Given the description of an element on the screen output the (x, y) to click on. 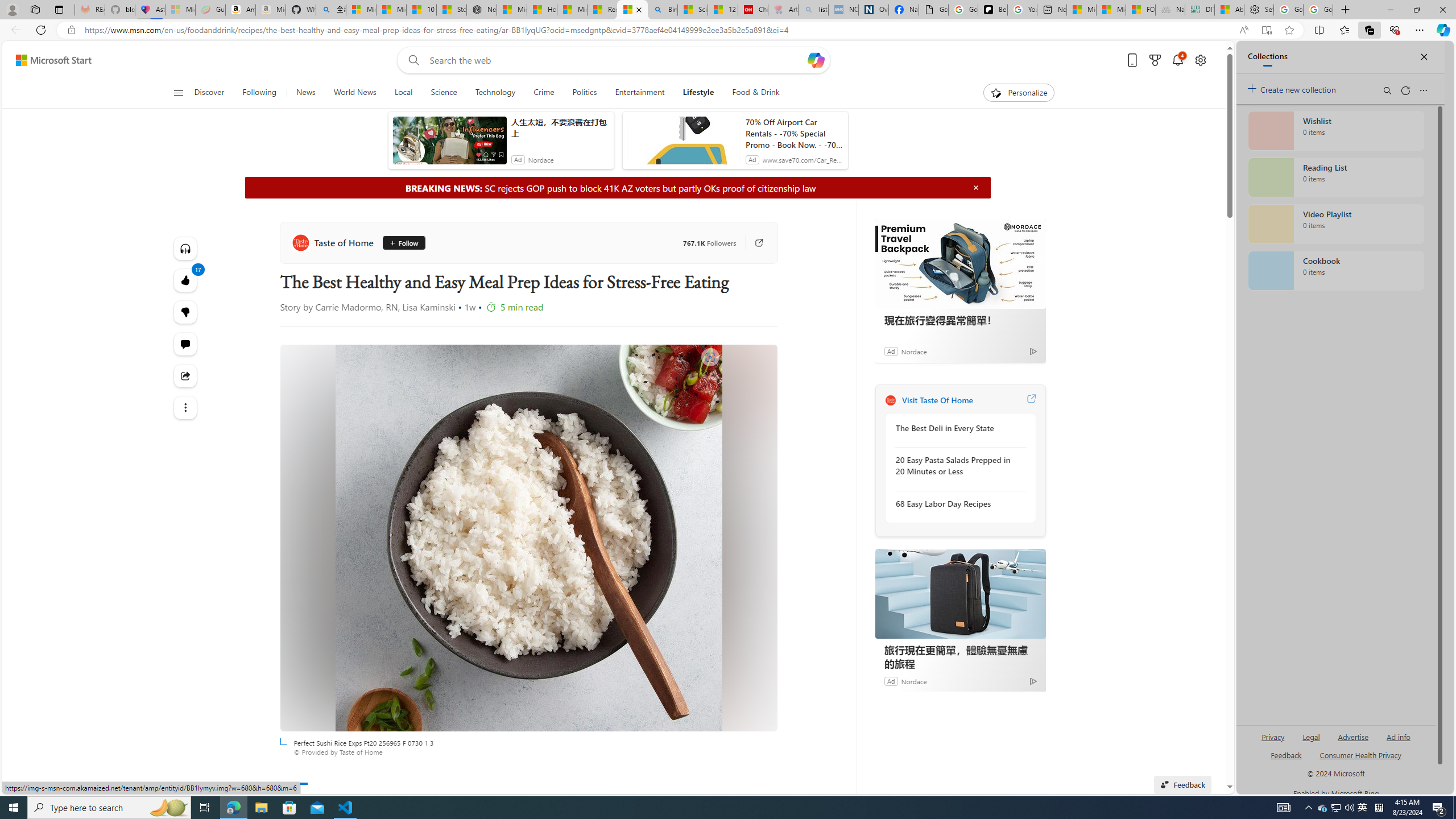
Enter your search term (617, 59)
anim-content (683, 144)
68 Easy Labor Day Recipes (957, 503)
12 Popular Science Lies that Must be Corrected (722, 9)
Aberdeen, Hong Kong SAR hourly forecast | Microsoft Weather (1229, 9)
AutomationID: sb_feedback (1286, 754)
